Given the description of an element on the screen output the (x, y) to click on. 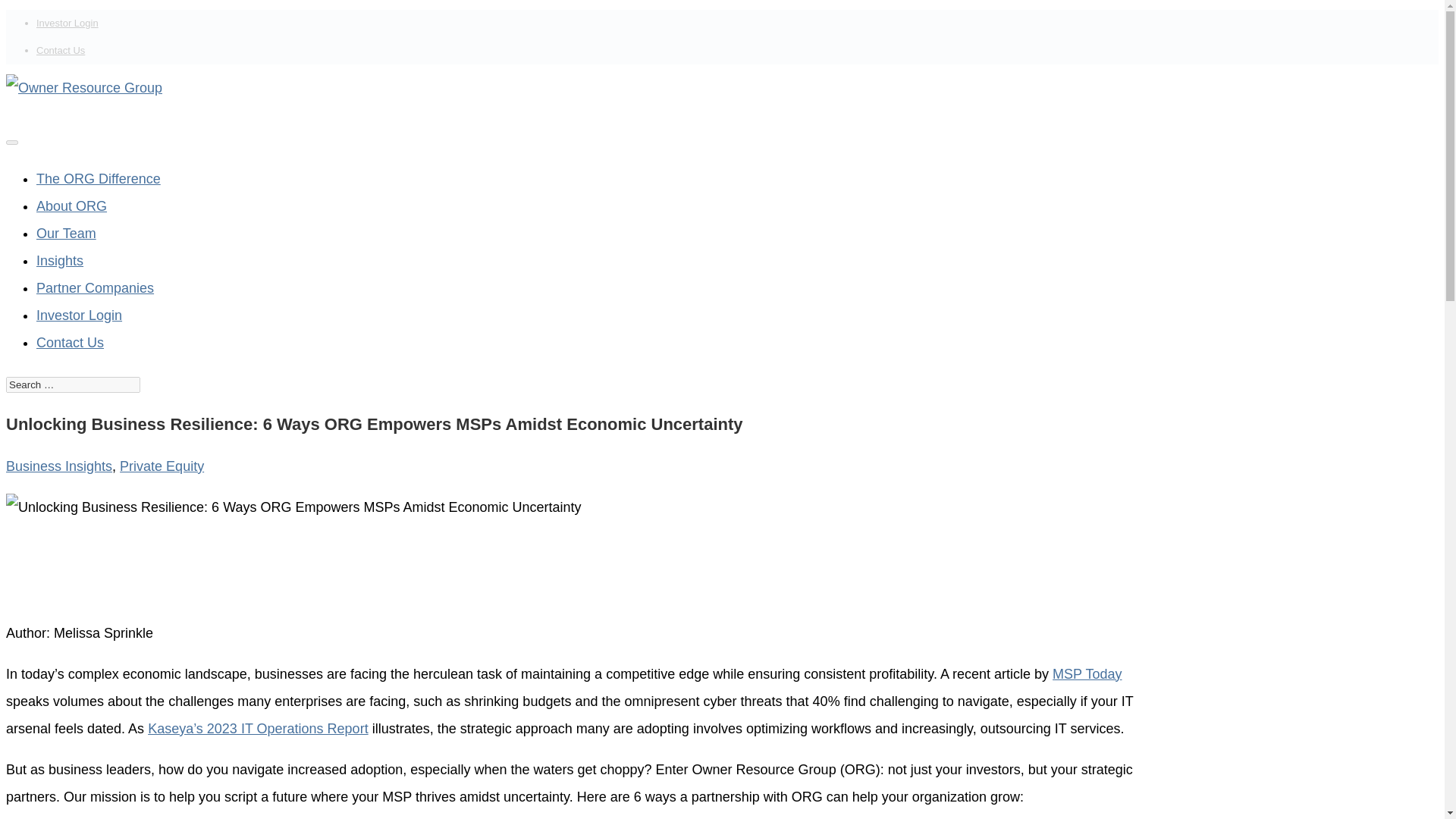
The ORG Difference (98, 178)
Contact Us (60, 50)
About ORG (71, 206)
Private Equity (161, 465)
Our Team (66, 233)
Business Insights (58, 465)
Search for: (72, 384)
Insights (59, 260)
Partner Companies (95, 287)
Contact Us (69, 342)
